Given the description of an element on the screen output the (x, y) to click on. 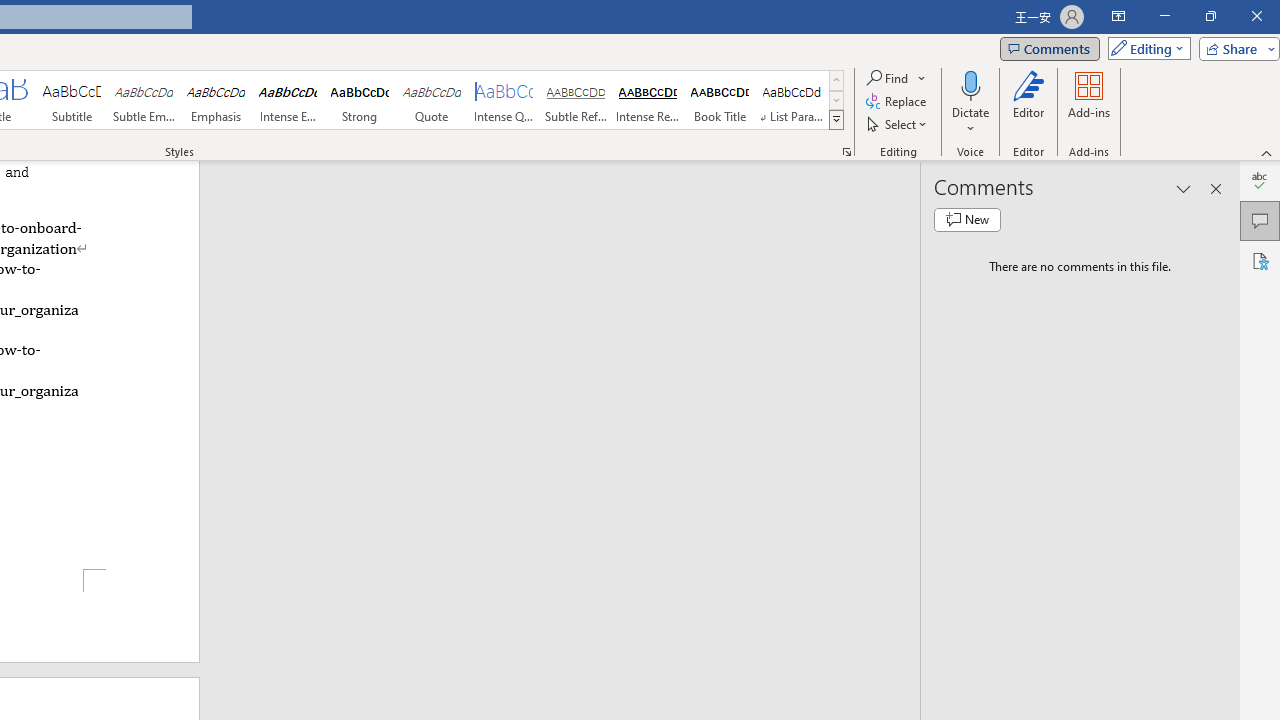
Book Title (719, 100)
Subtle Reference (575, 100)
Editing (1144, 47)
Accessibility (1260, 260)
Emphasis (216, 100)
Quote (431, 100)
New comment (967, 219)
